Given the description of an element on the screen output the (x, y) to click on. 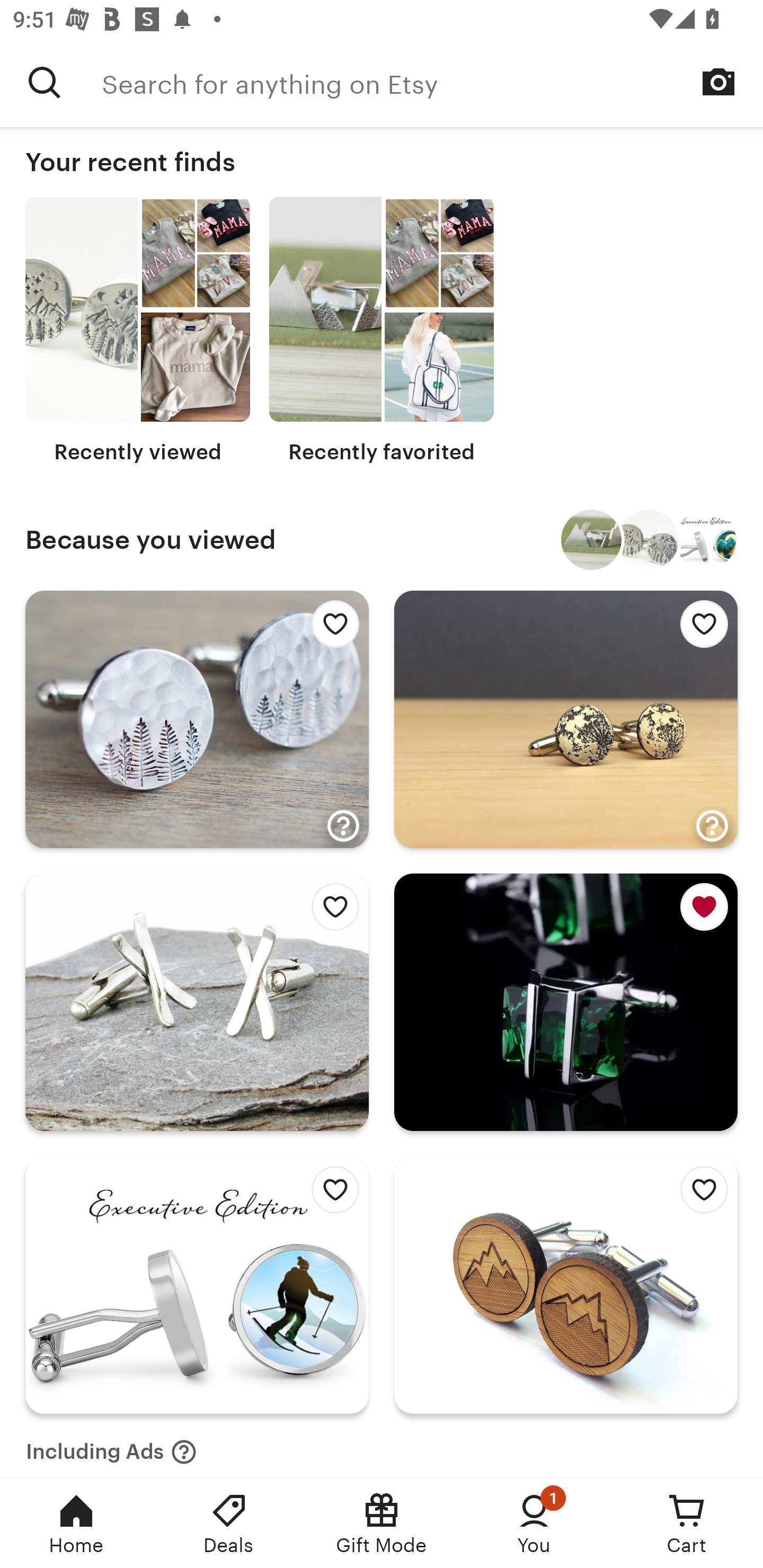
Search for anything on Etsy (44, 82)
Search by image (718, 81)
Search for anything on Etsy (432, 82)
Recently viewed (137, 330)
Recently favorited (381, 330)
Including Ads (111, 1446)
Deals (228, 1523)
Gift Mode (381, 1523)
You, 1 new notification You (533, 1523)
Cart (686, 1523)
